Given the description of an element on the screen output the (x, y) to click on. 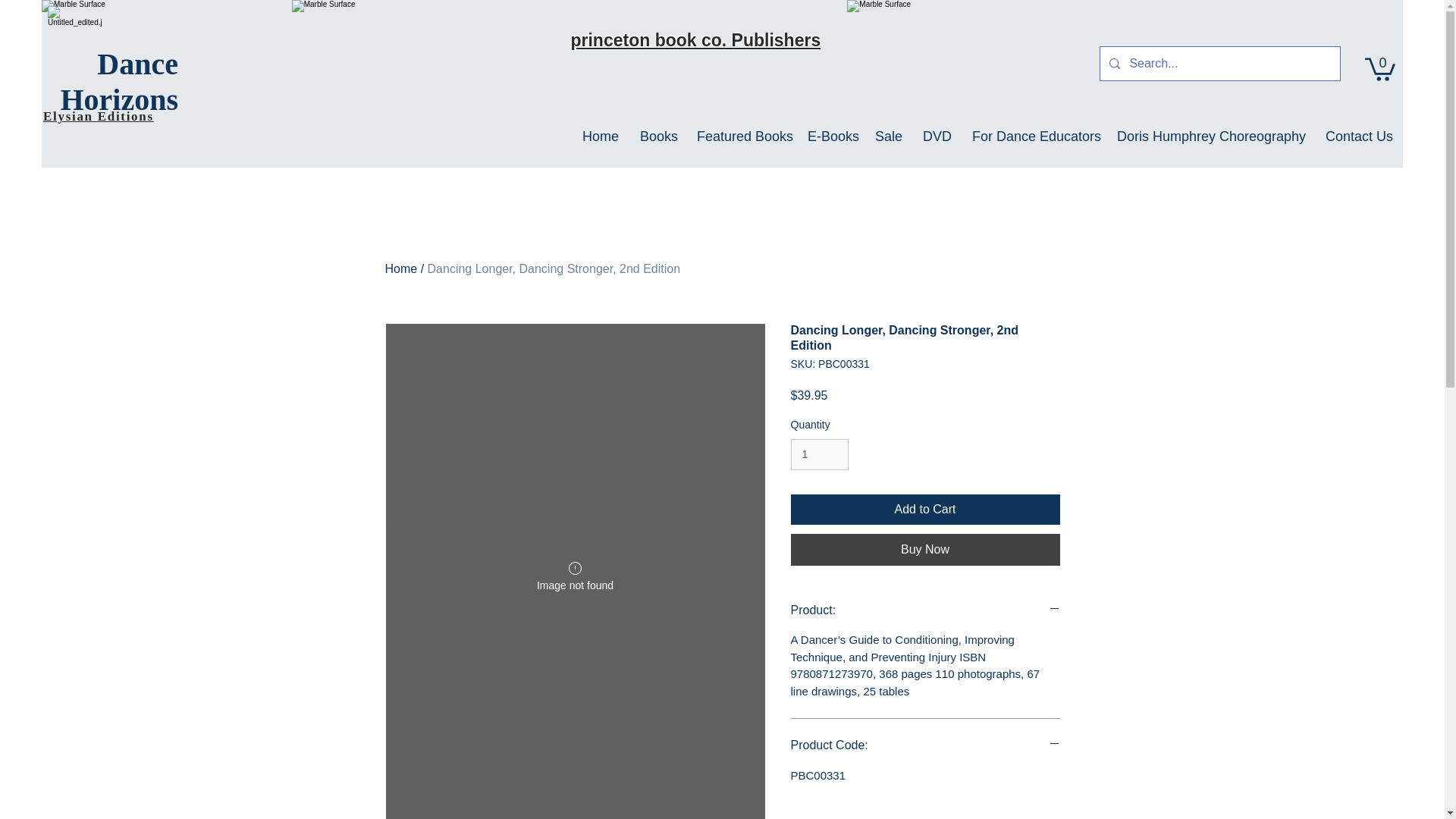
Product Code: (924, 745)
princeton book co. Publishers (695, 39)
For Dance Educators (1032, 136)
Home (599, 136)
Books (656, 136)
1 (818, 454)
Buy Now (924, 549)
0 (1379, 68)
Contact Us (1357, 136)
DVD (935, 136)
Product: (924, 610)
Doris Humphrey Choreography (1209, 136)
E-Books (829, 136)
Featured Books (740, 136)
Sale (887, 136)
